Given the description of an element on the screen output the (x, y) to click on. 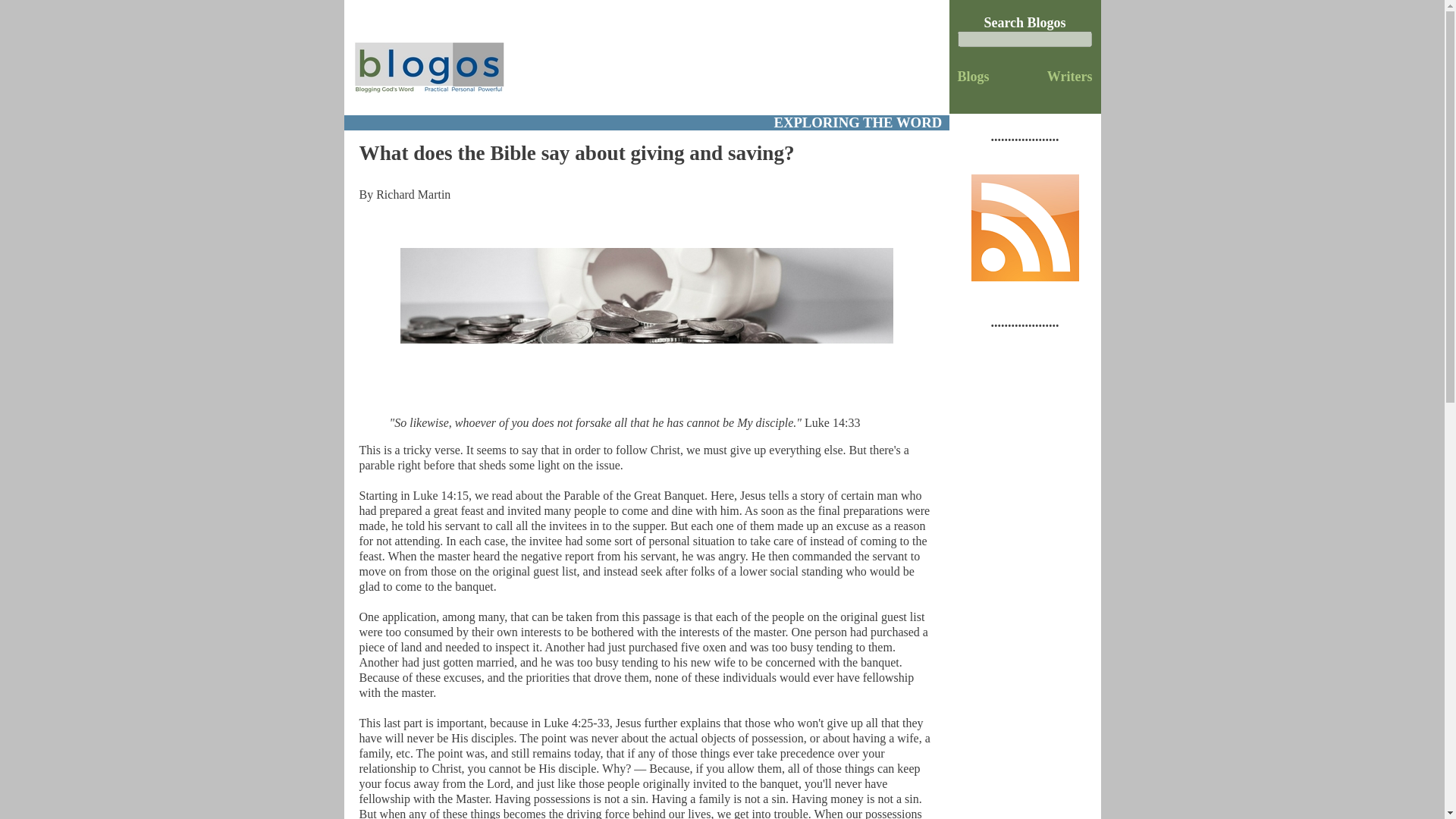
Subscribe to Exploring the Word (1024, 276)
Blogs (974, 76)
Writers (1069, 76)
